Given the description of an element on the screen output the (x, y) to click on. 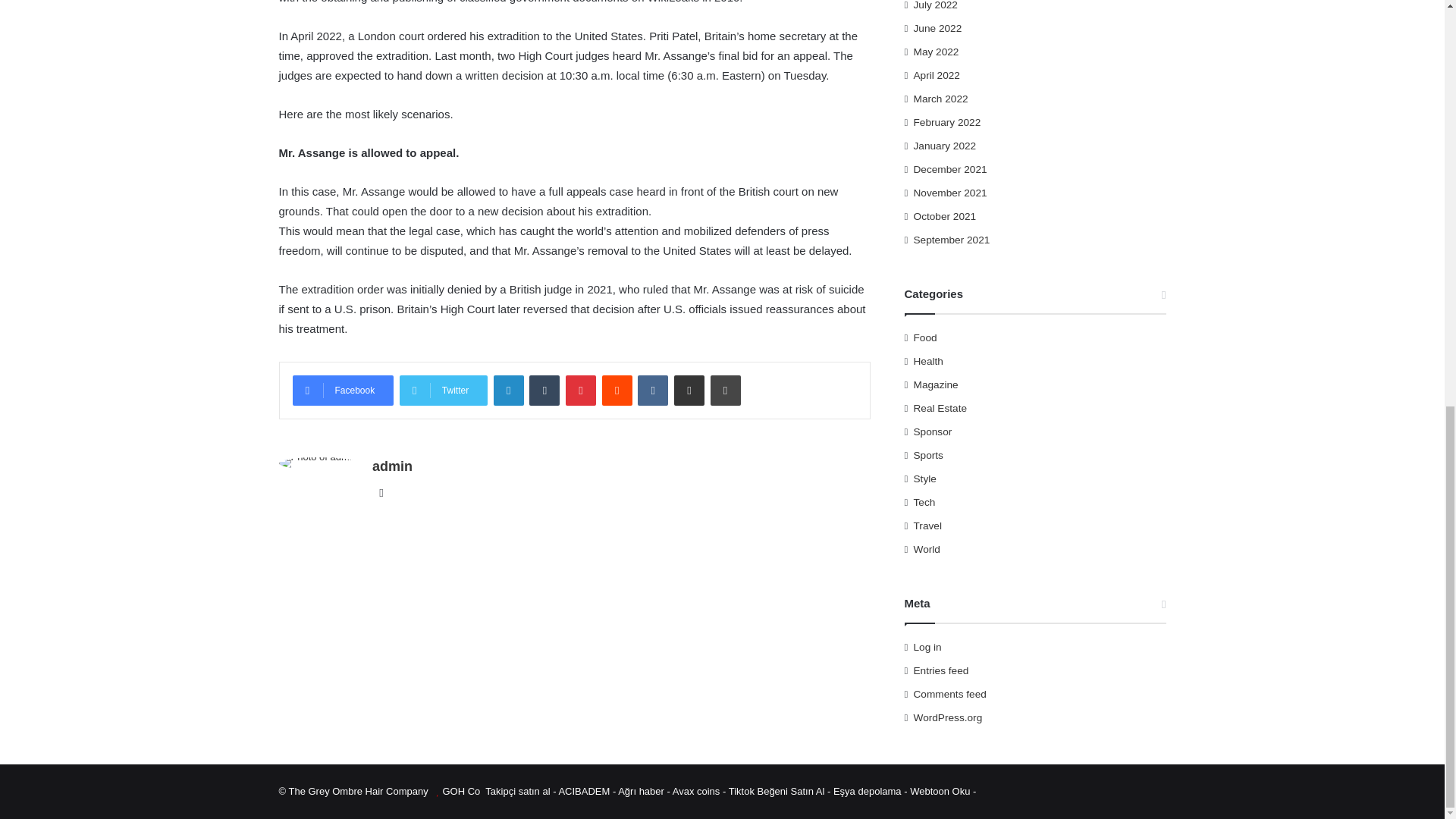
LinkedIn (508, 390)
Facebook (343, 390)
Tumblr (544, 390)
Print (725, 390)
admin (392, 466)
Twitter (442, 390)
Tumblr (544, 390)
Share via Email (689, 390)
Reddit (616, 390)
Twitter (442, 390)
VKontakte (652, 390)
Print (725, 390)
Website (381, 493)
Facebook (343, 390)
Reddit (616, 390)
